Given the description of an element on the screen output the (x, y) to click on. 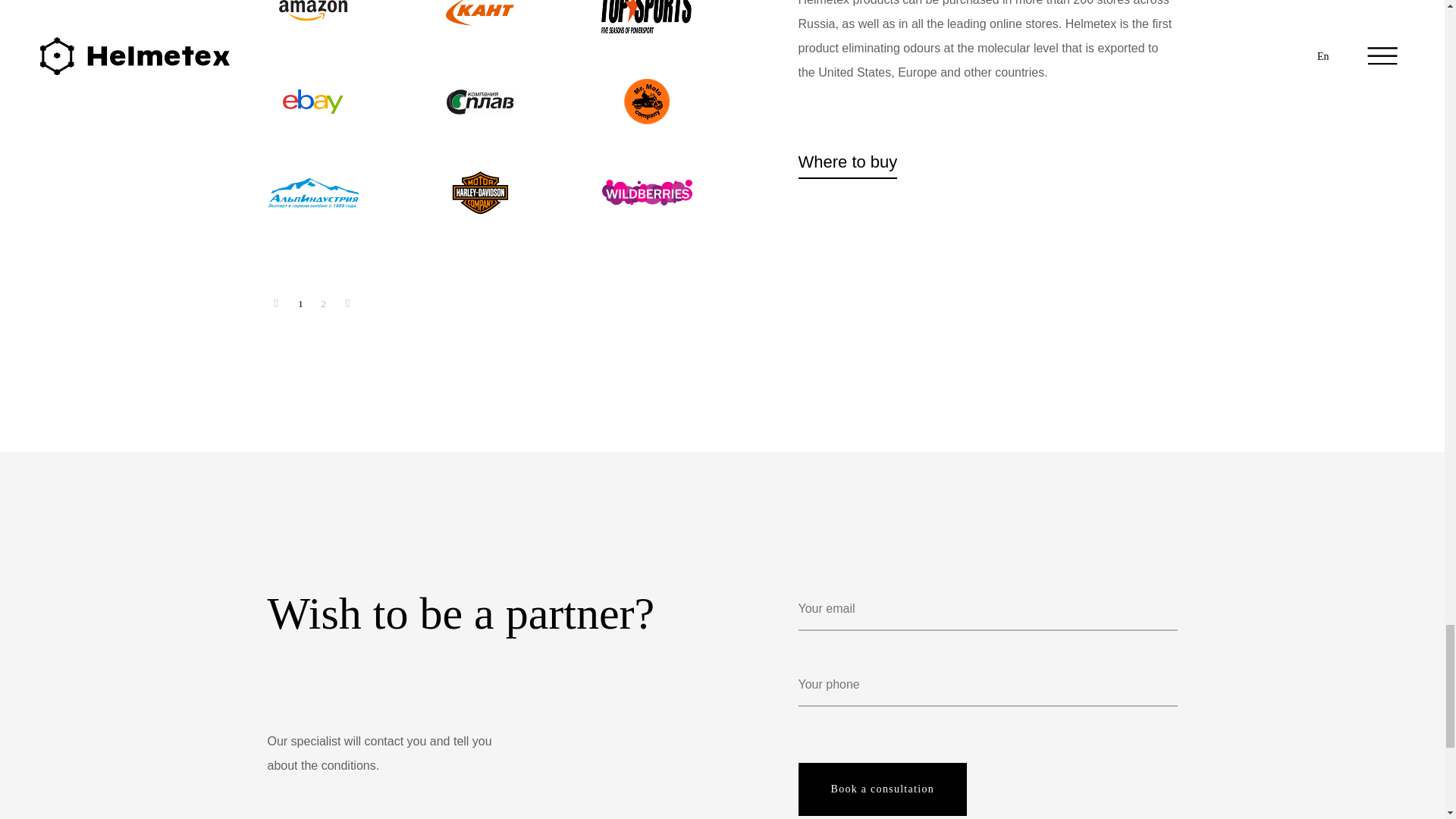
2 (322, 303)
Where to buy (846, 162)
1 (299, 303)
